Given the description of an element on the screen output the (x, y) to click on. 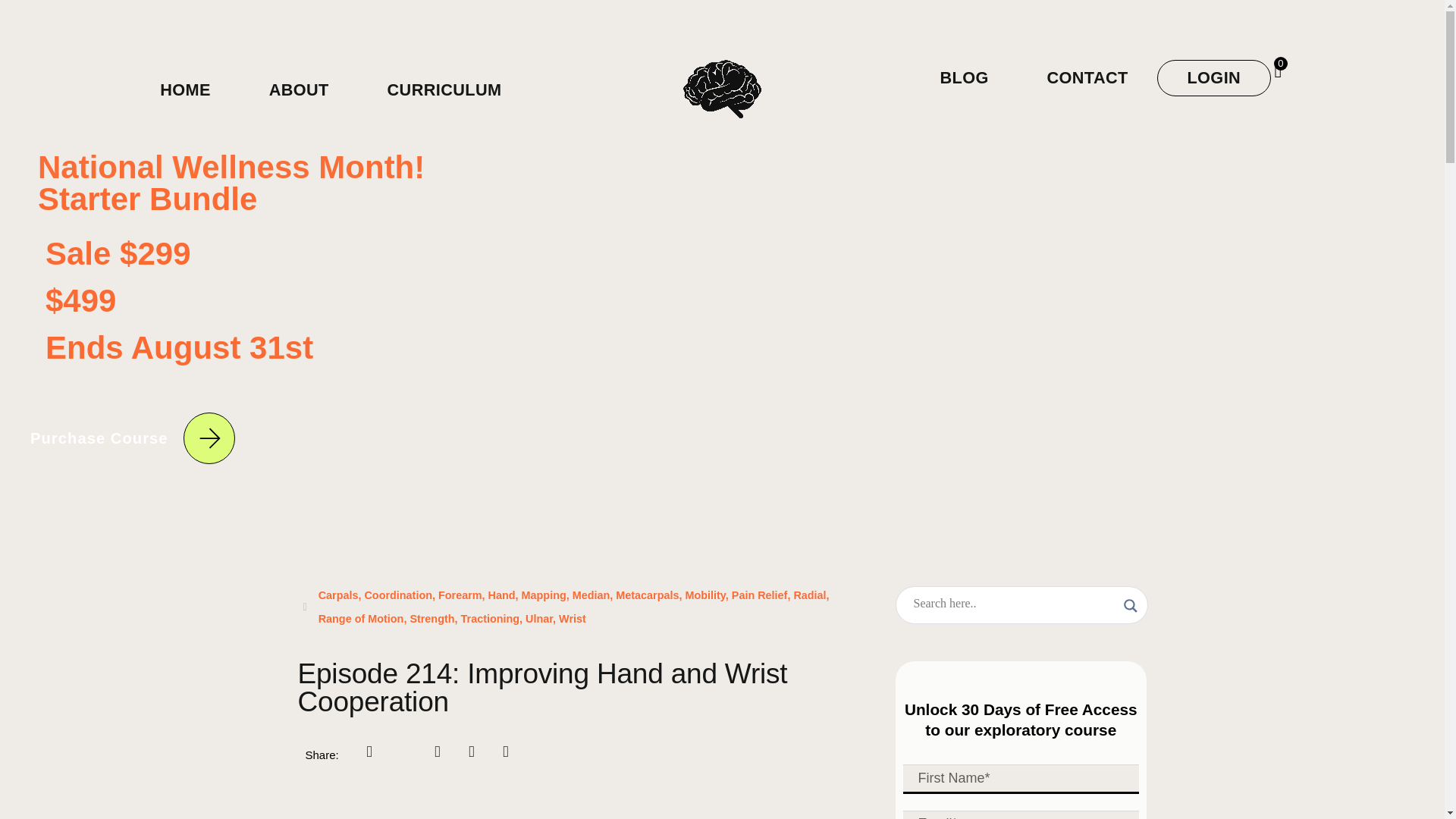
Median (591, 594)
Tractioning (490, 618)
Strength (431, 618)
BLOG (963, 77)
Ulnar (539, 618)
CONTACT (1086, 77)
Purchase Course (135, 437)
Wrist (572, 618)
Pain Relief (759, 594)
Carpals (338, 594)
